Given the description of an element on the screen output the (x, y) to click on. 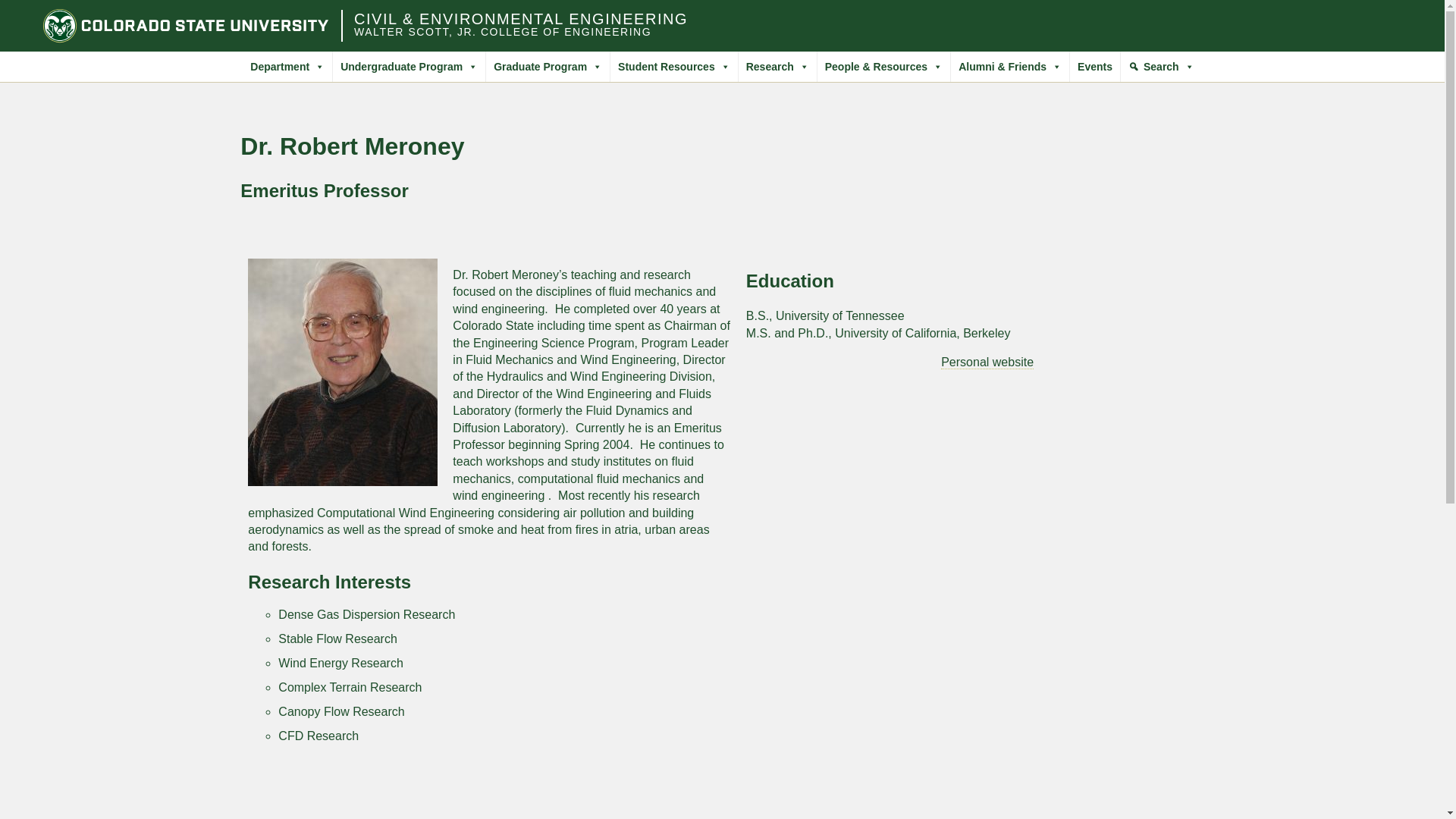
Graduate Program (548, 66)
Student Resources (674, 66)
Colorado State University (186, 25)
Department (287, 66)
Undergraduate Program (408, 66)
